Given the description of an element on the screen output the (x, y) to click on. 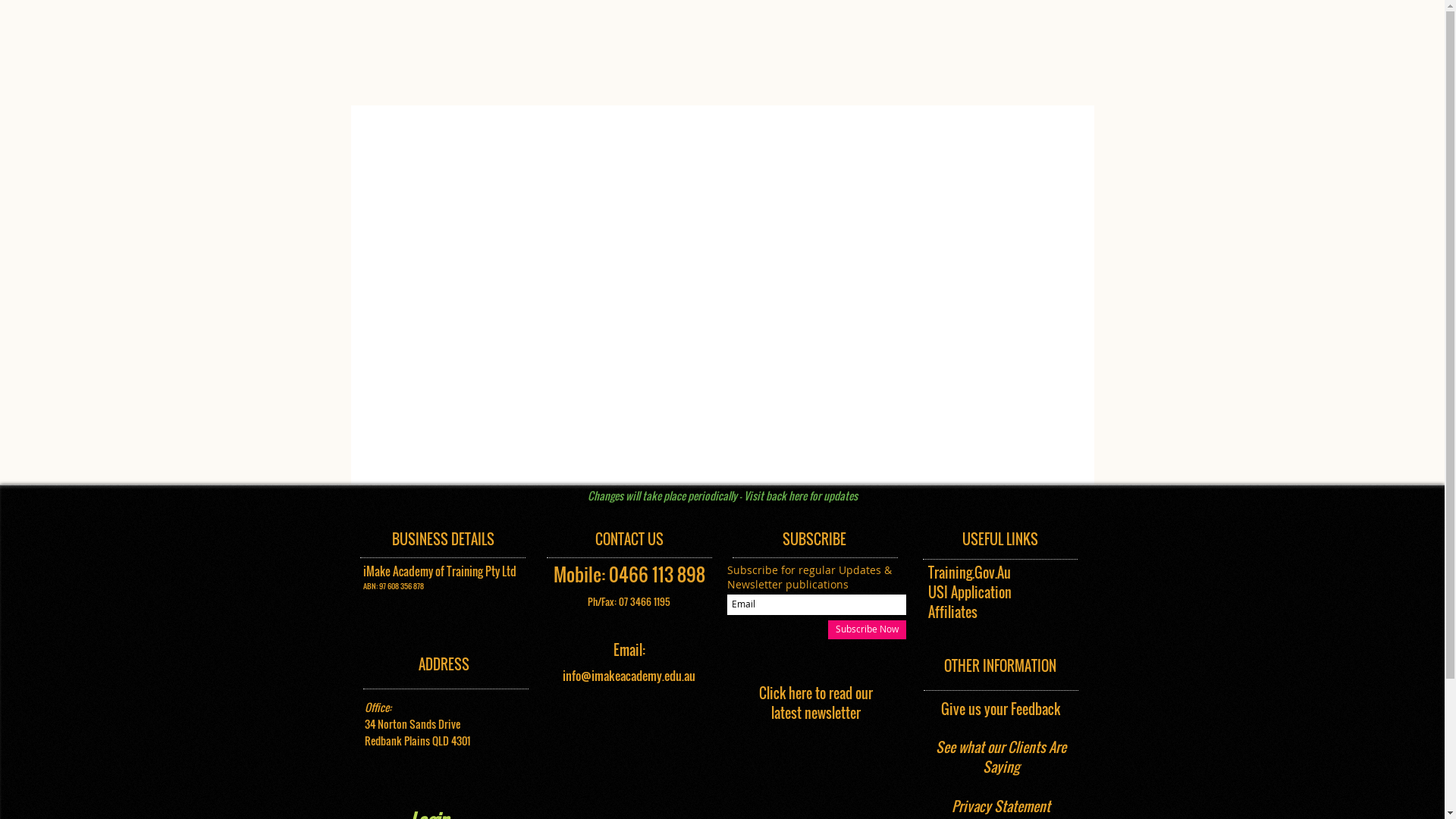
info@imakeacademy.edu.au Element type: text (628, 676)
CONTACT US Element type: text (628, 539)
Privacy Statement Element type: text (999, 806)
Subscribe Now Element type: text (867, 629)
